Given the description of an element on the screen output the (x, y) to click on. 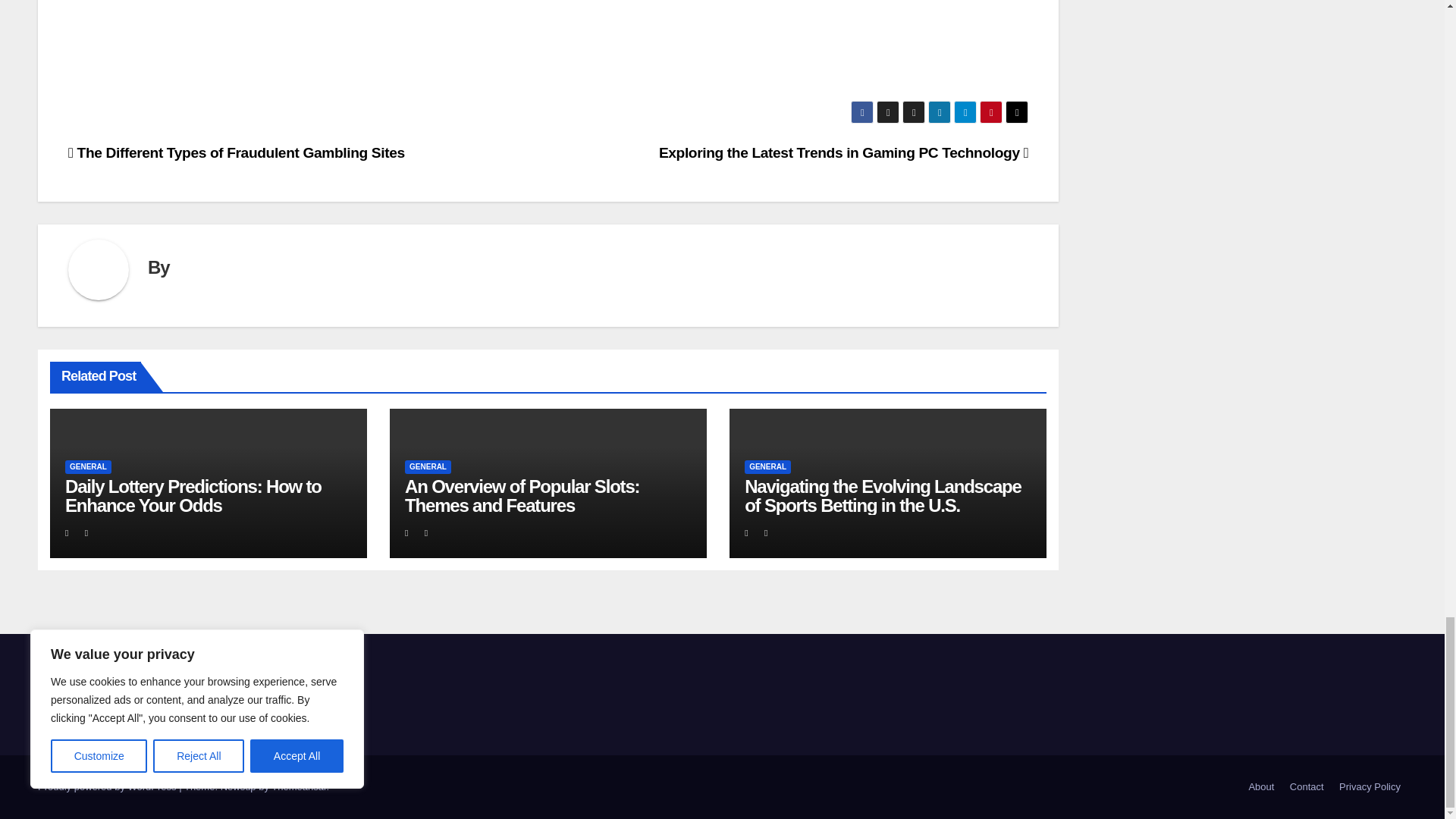
Privacy Policy (1369, 786)
Contact (1307, 786)
About (1260, 786)
